Given the description of an element on the screen output the (x, y) to click on. 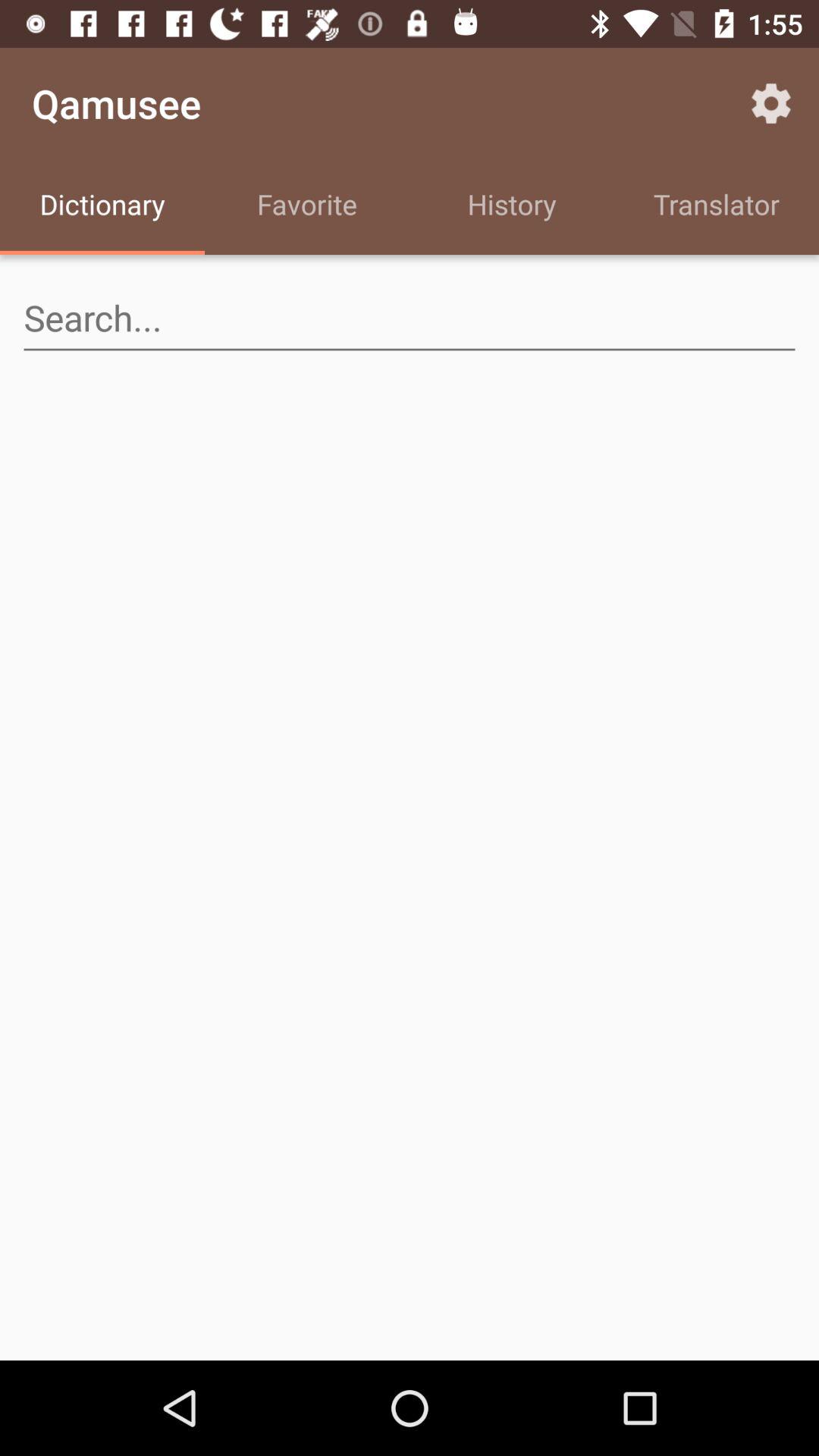
press the favorite item (306, 206)
